Given the description of an element on the screen output the (x, y) to click on. 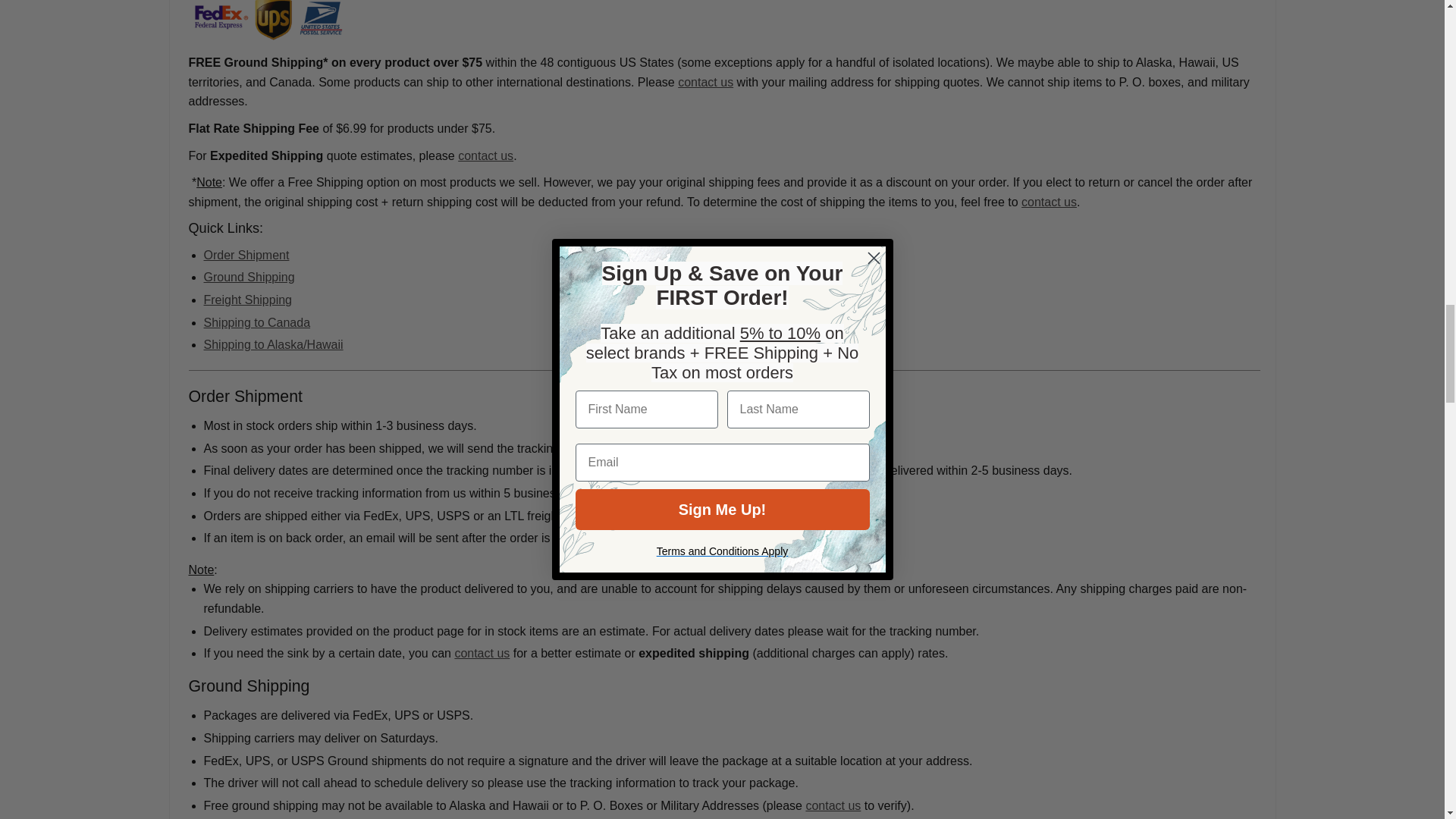
Shipping to Canada (256, 322)
